Given the description of an element on the screen output the (x, y) to click on. 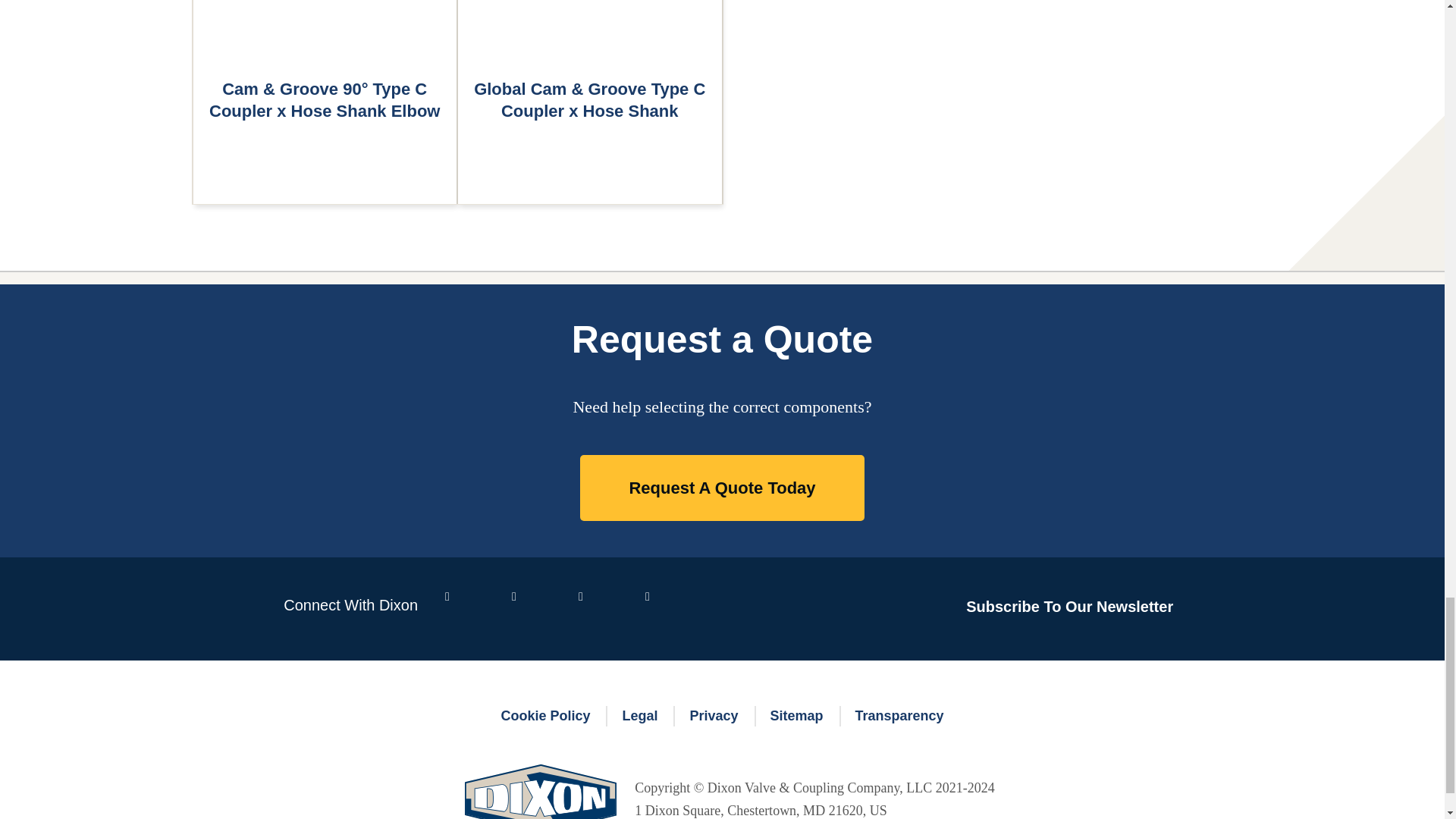
Youtube Channel (599, 608)
Legal Page (638, 715)
LinkedIn (533, 608)
Facebook (466, 608)
Instagram (666, 608)
Home (539, 789)
